Given the description of an element on the screen output the (x, y) to click on. 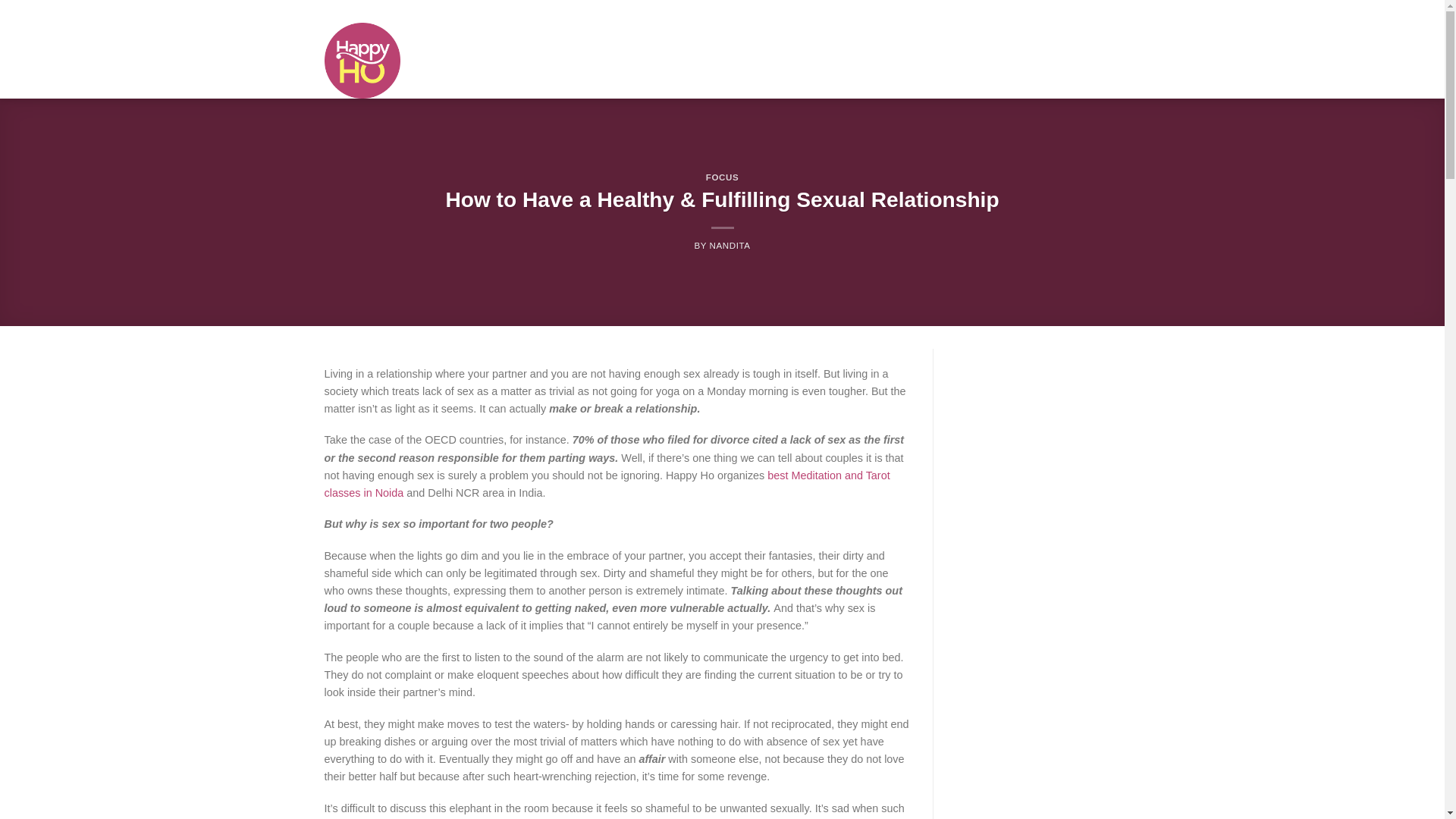
Send us an email (1074, 10)
Follow on LinkedIn (1113, 10)
CORPORATE SOLUTIONS (653, 41)
Contact Us (707, 11)
Call us (1087, 10)
Follow on Instagram (1047, 10)
HappyHO Consultants (783, 11)
Follow on Pinterest (1100, 10)
Follow on Facebook (1034, 10)
